Given the description of an element on the screen output the (x, y) to click on. 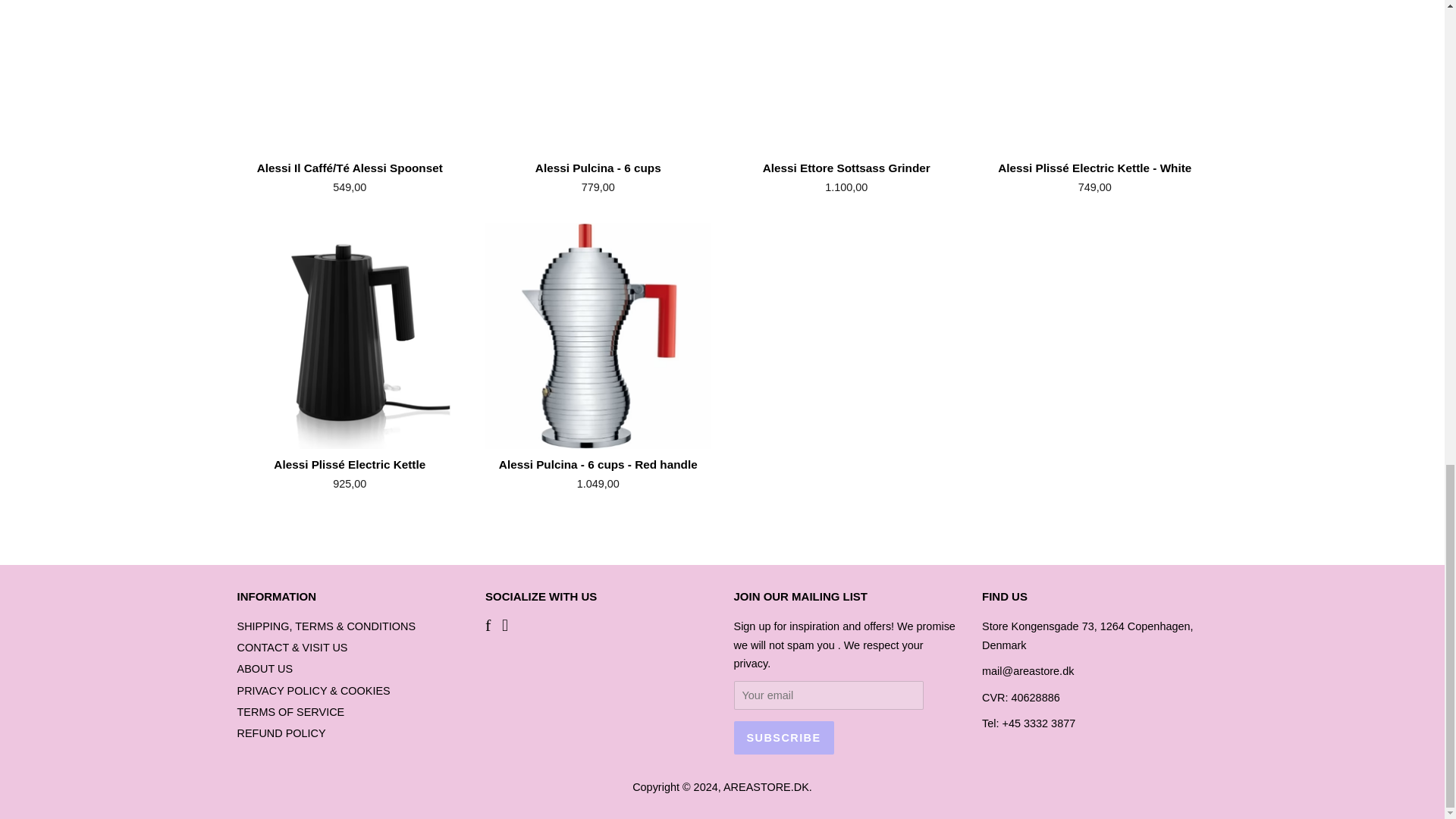
Subscribe (783, 737)
